Given the description of an element on the screen output the (x, y) to click on. 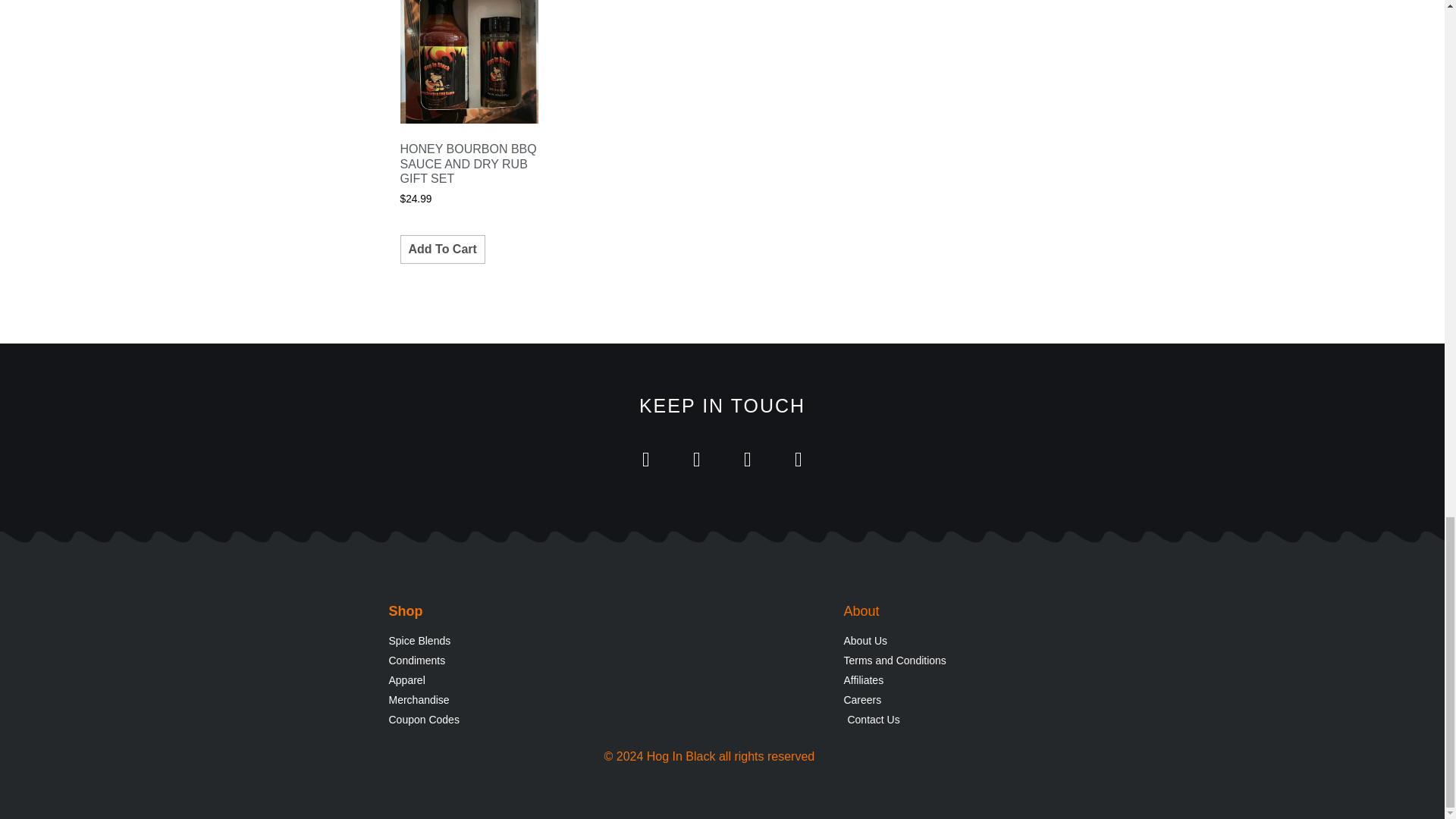
Merchandise (493, 700)
Spice Blends (493, 641)
Add To Cart (442, 249)
Apparel (493, 680)
Condiments (493, 660)
